Given the description of an element on the screen output the (x, y) to click on. 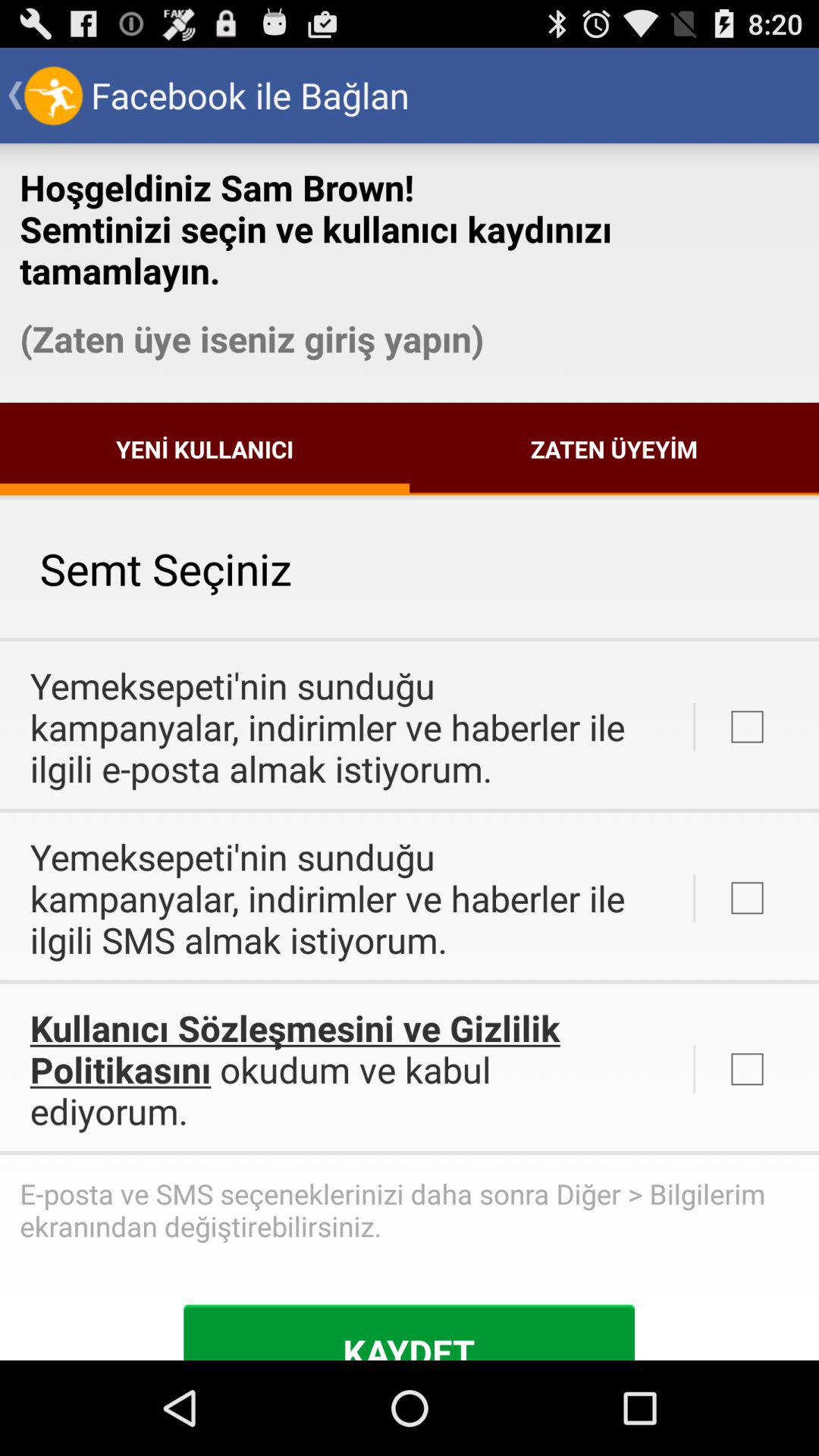
select the symbol which is to the left of first check box in the first option of semt seciniz category (694, 726)
click the button which is in the third row from the text semt seciniz (767, 898)
